Given the description of an element on the screen output the (x, y) to click on. 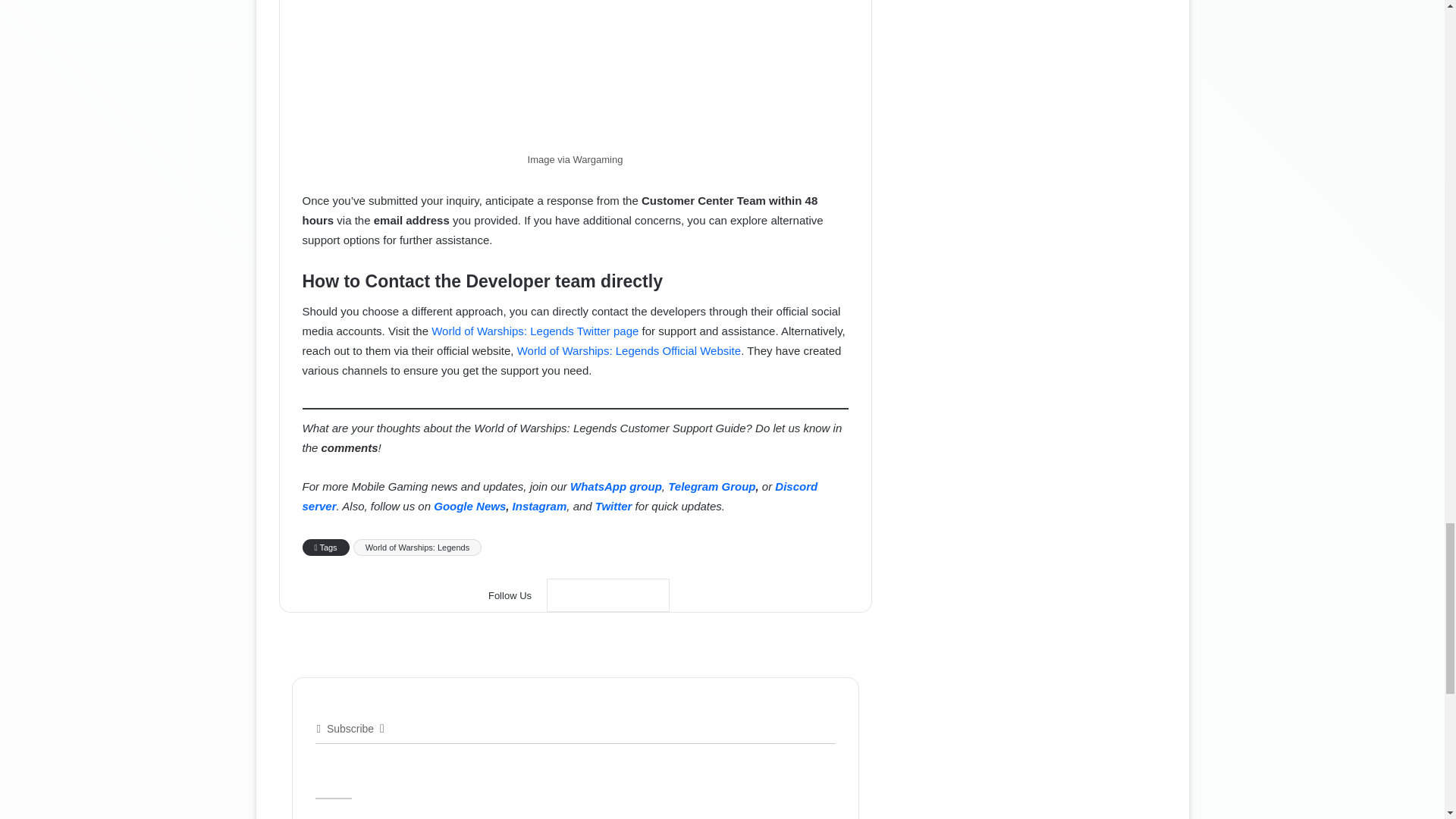
Google News (608, 594)
